Given the description of an element on the screen output the (x, y) to click on. 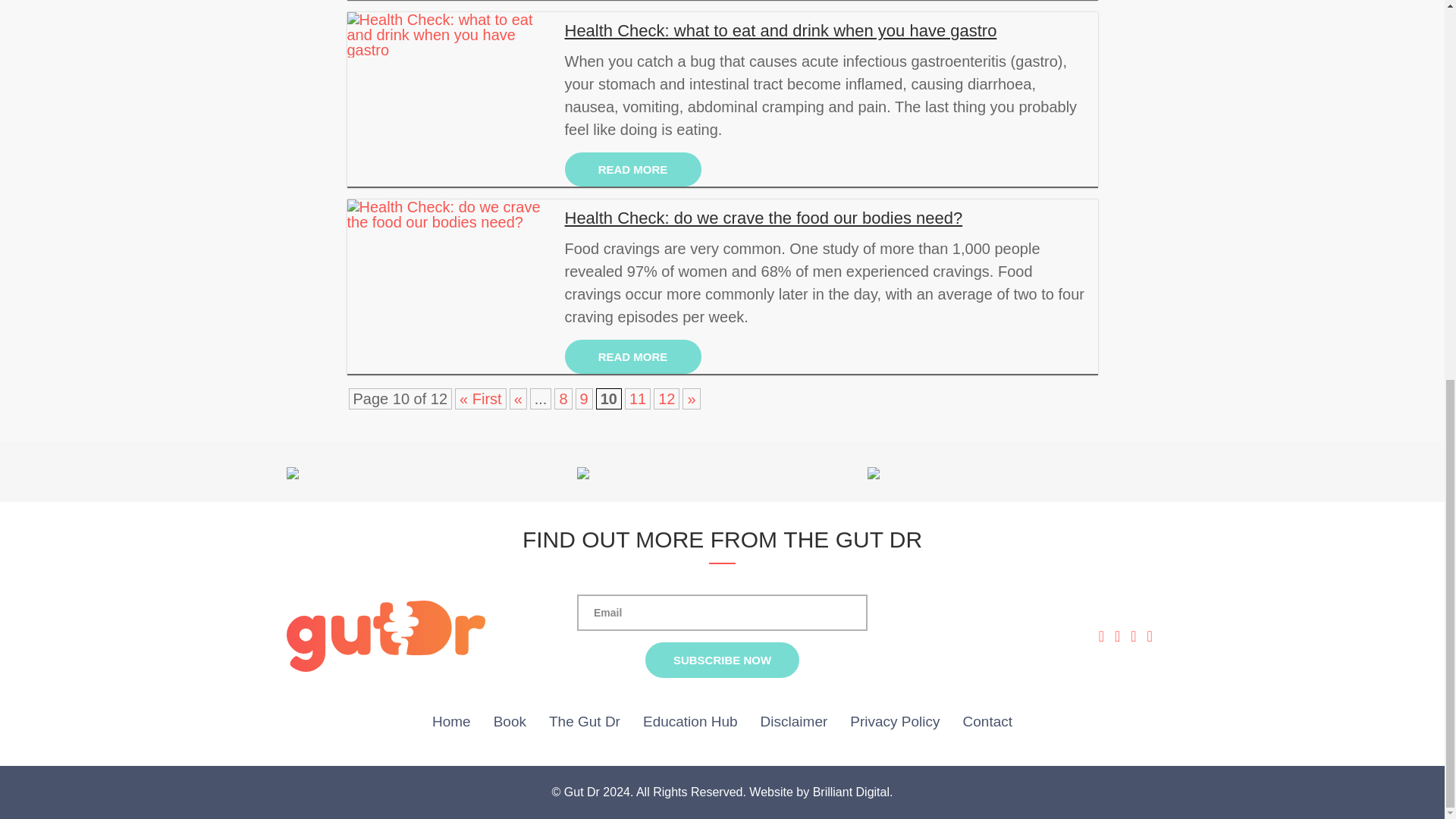
READ MORE (632, 356)
Health Check: what to eat and drink when you have gastro (826, 30)
READ MORE (632, 169)
Page 11 (637, 398)
Subscribe Now (722, 660)
Health Check: do we crave the food our bodies need? (826, 218)
Page 12 (666, 398)
11 (637, 398)
